Given the description of an element on the screen output the (x, y) to click on. 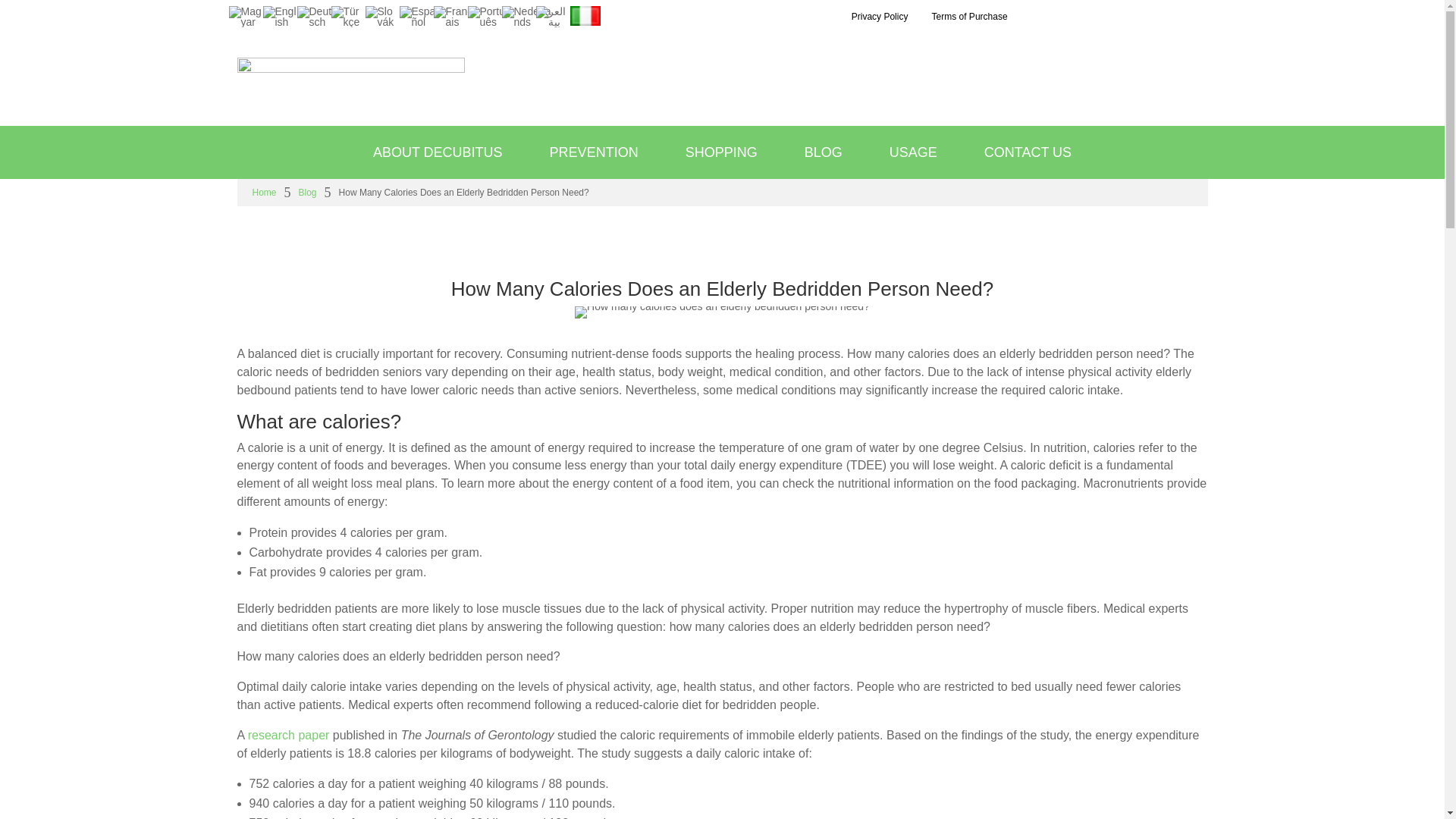
PREVENTION (593, 152)
Terms of Purchase (969, 16)
Home (263, 192)
BLOG (823, 152)
Blog (307, 192)
SHOPPING (721, 152)
ABOUT DECUBITUS (438, 152)
Privacy Policy (879, 16)
CONTACT US (1027, 152)
USAGE (913, 152)
